Given the description of an element on the screen output the (x, y) to click on. 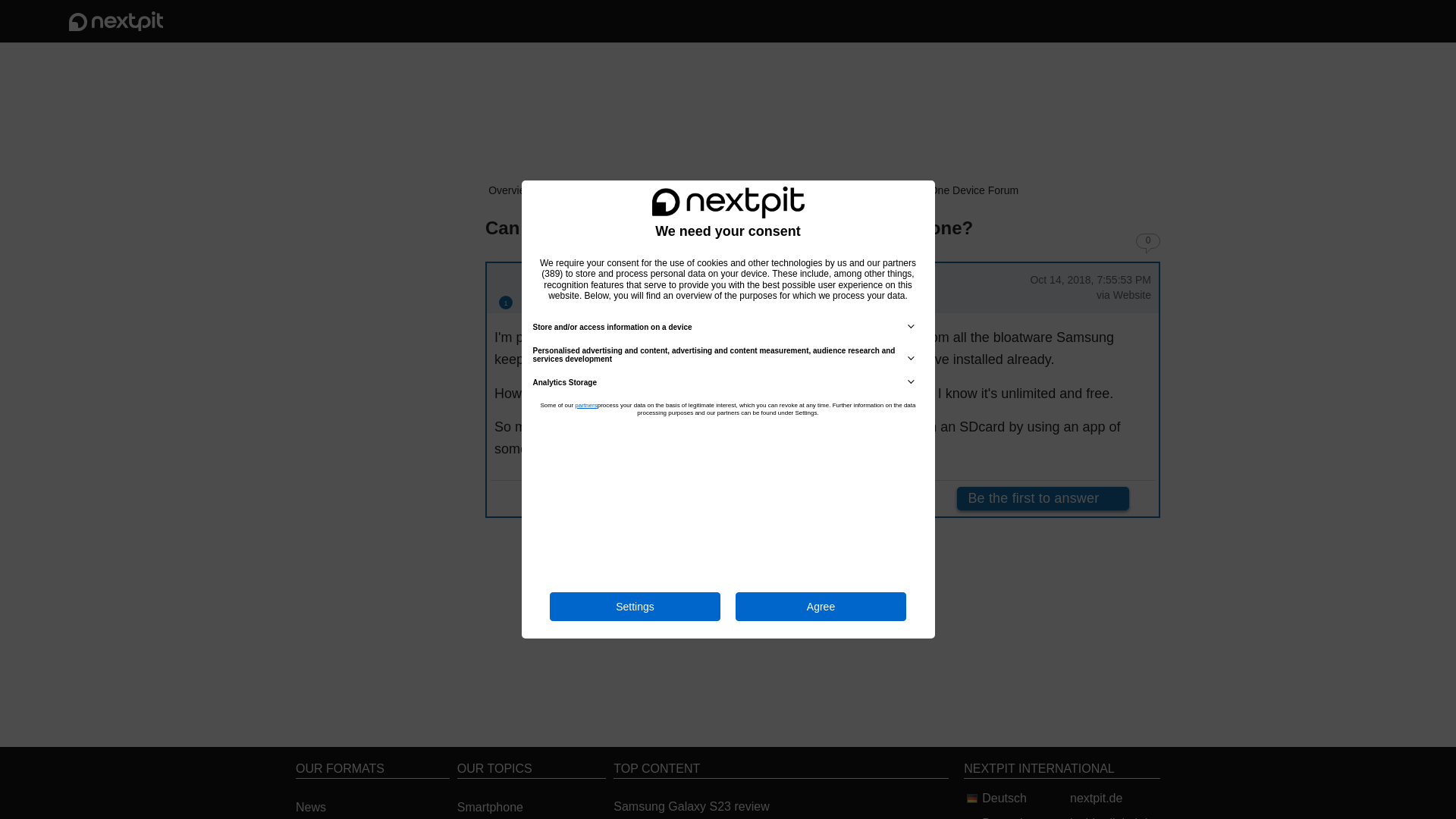
Login (1325, 21)
You must be logged in to favorite a thread (464, 226)
To the nextpit homepage (115, 21)
1 (505, 302)
